Given the description of an element on the screen output the (x, y) to click on. 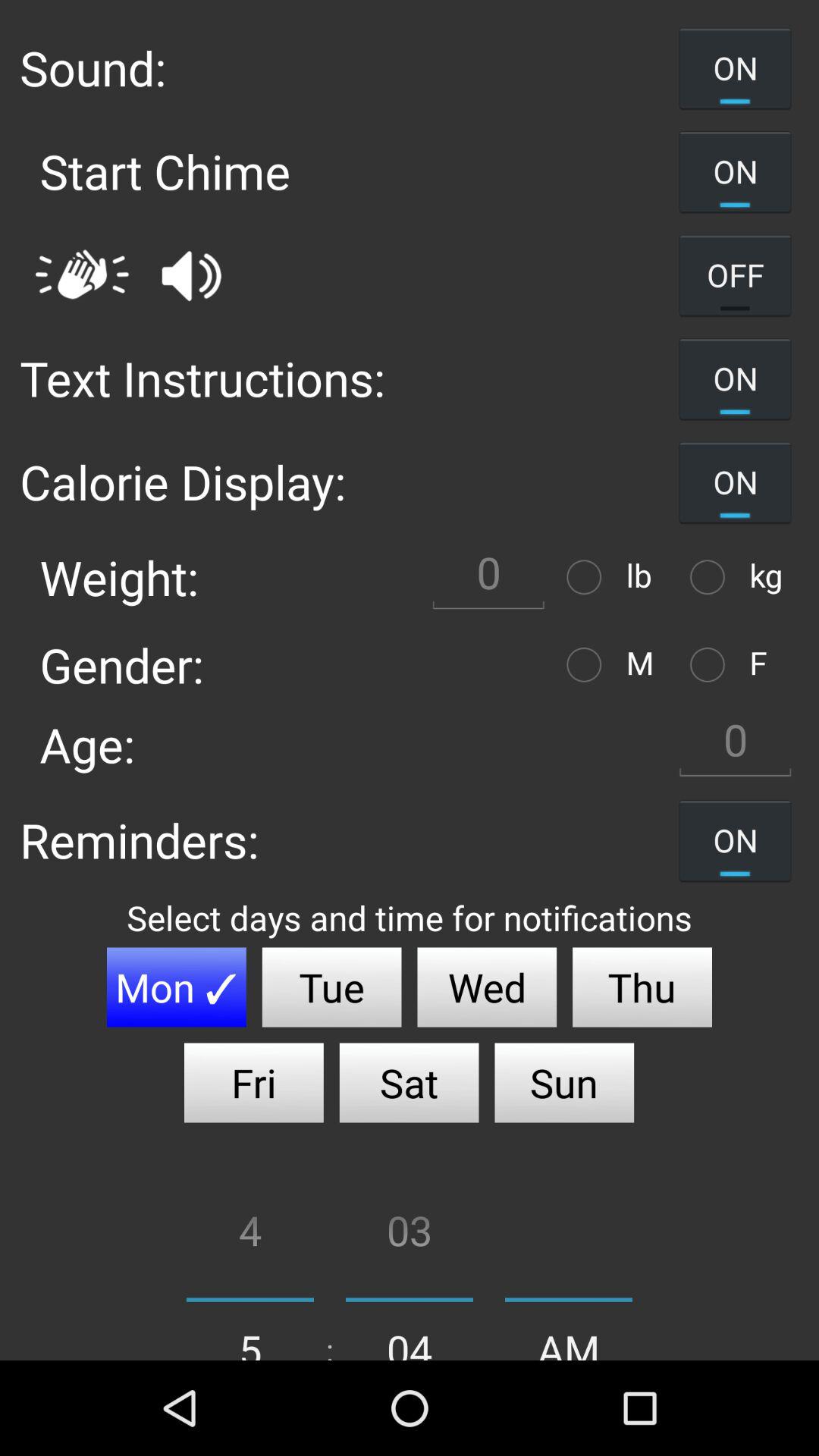
enter weight (488, 577)
